Given the description of an element on the screen output the (x, y) to click on. 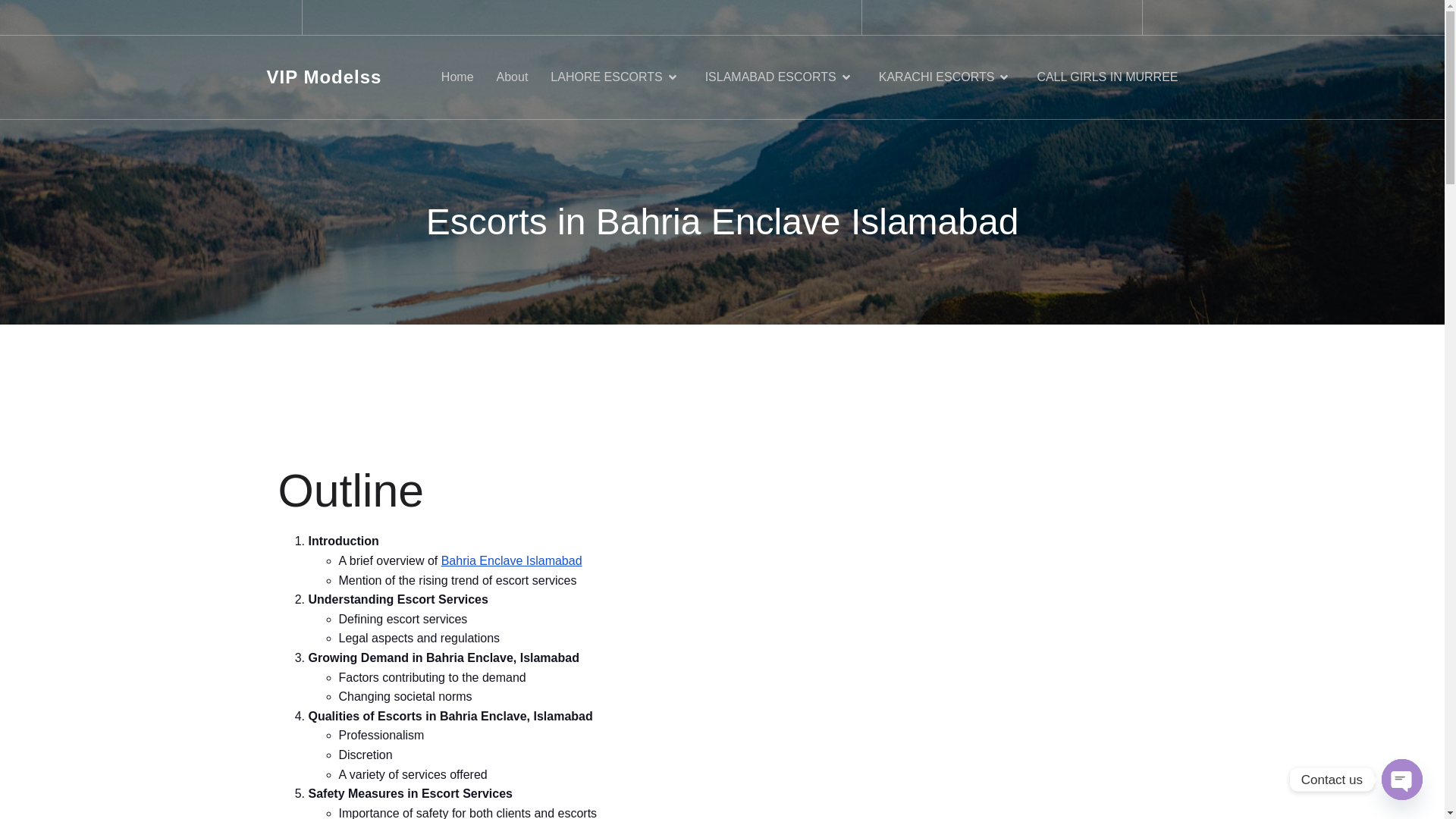
Home (457, 77)
ISLAMABAD ESCORTS (780, 77)
VIP Modelss (323, 76)
LAHORE ESCORTS (615, 77)
About (512, 77)
KARACHI ESCORTS (946, 77)
